Given the description of an element on the screen output the (x, y) to click on. 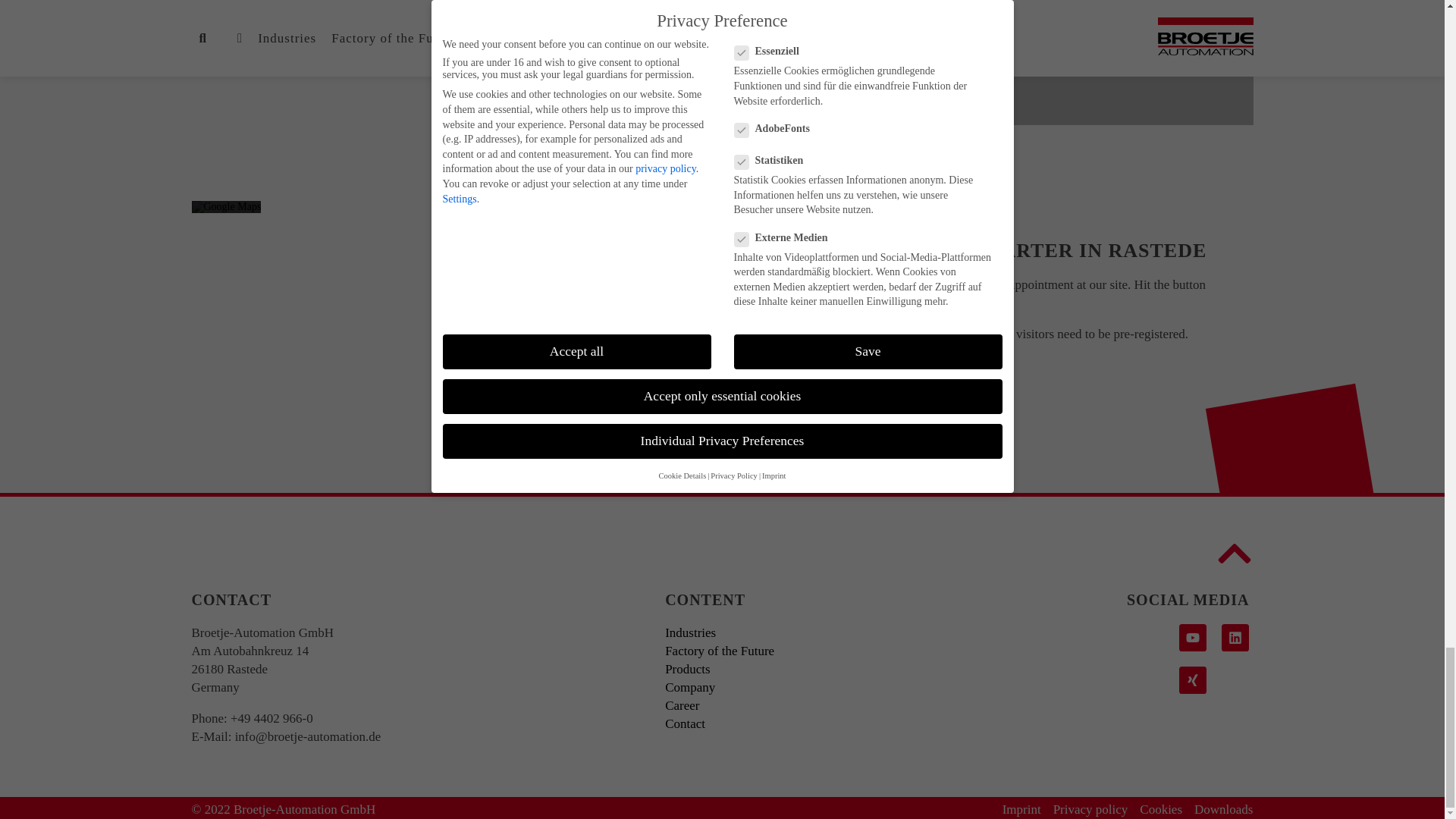
1 (210, 266)
